Given the description of an element on the screen output the (x, y) to click on. 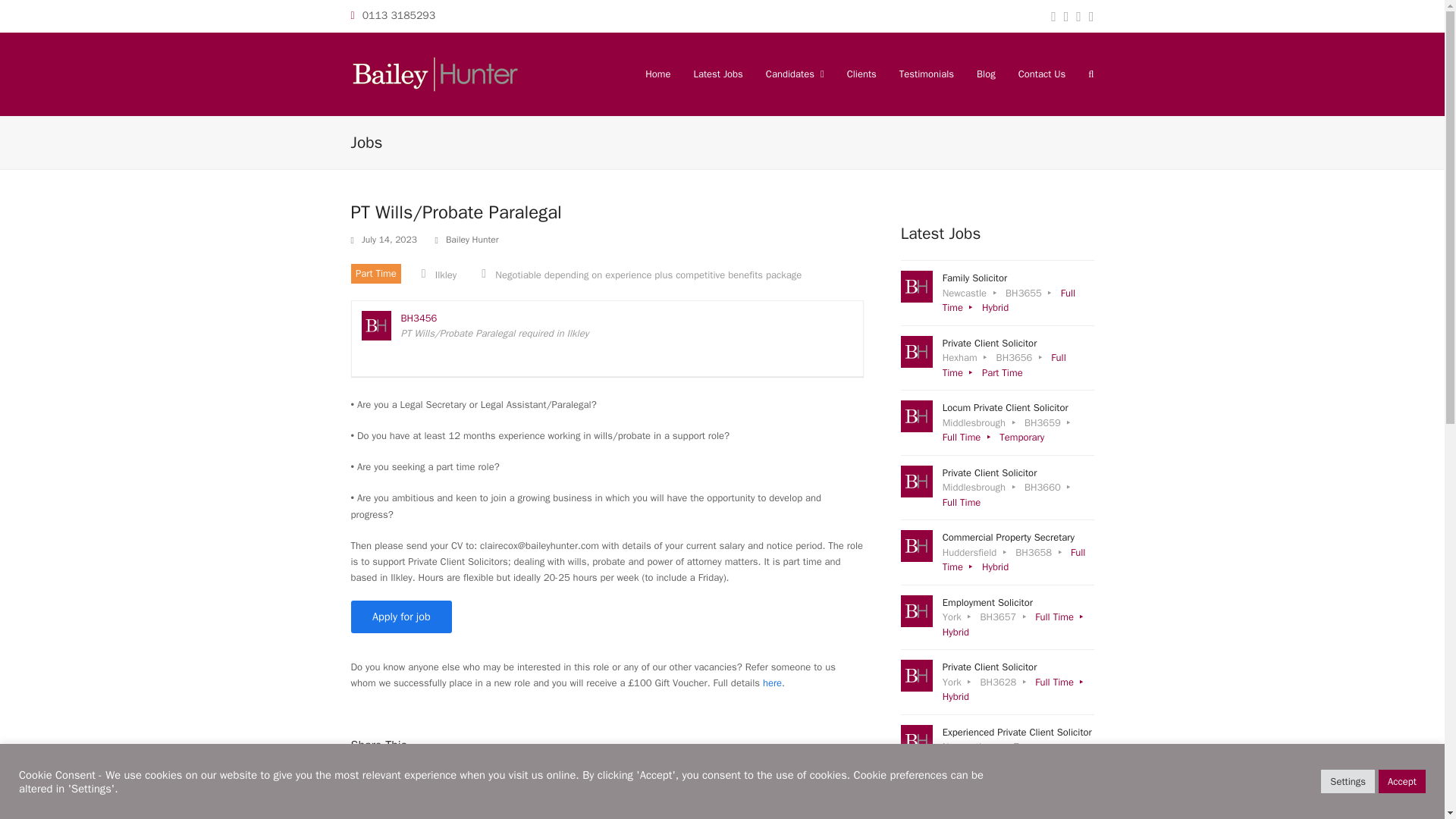
Candidates (997, 357)
Contact Us (794, 74)
Home (1042, 74)
Share via Email (657, 74)
Share on Twitter (457, 786)
Posts by Bailey Hunter (997, 617)
Share on LinkedIn (363, 786)
